Given the description of an element on the screen output the (x, y) to click on. 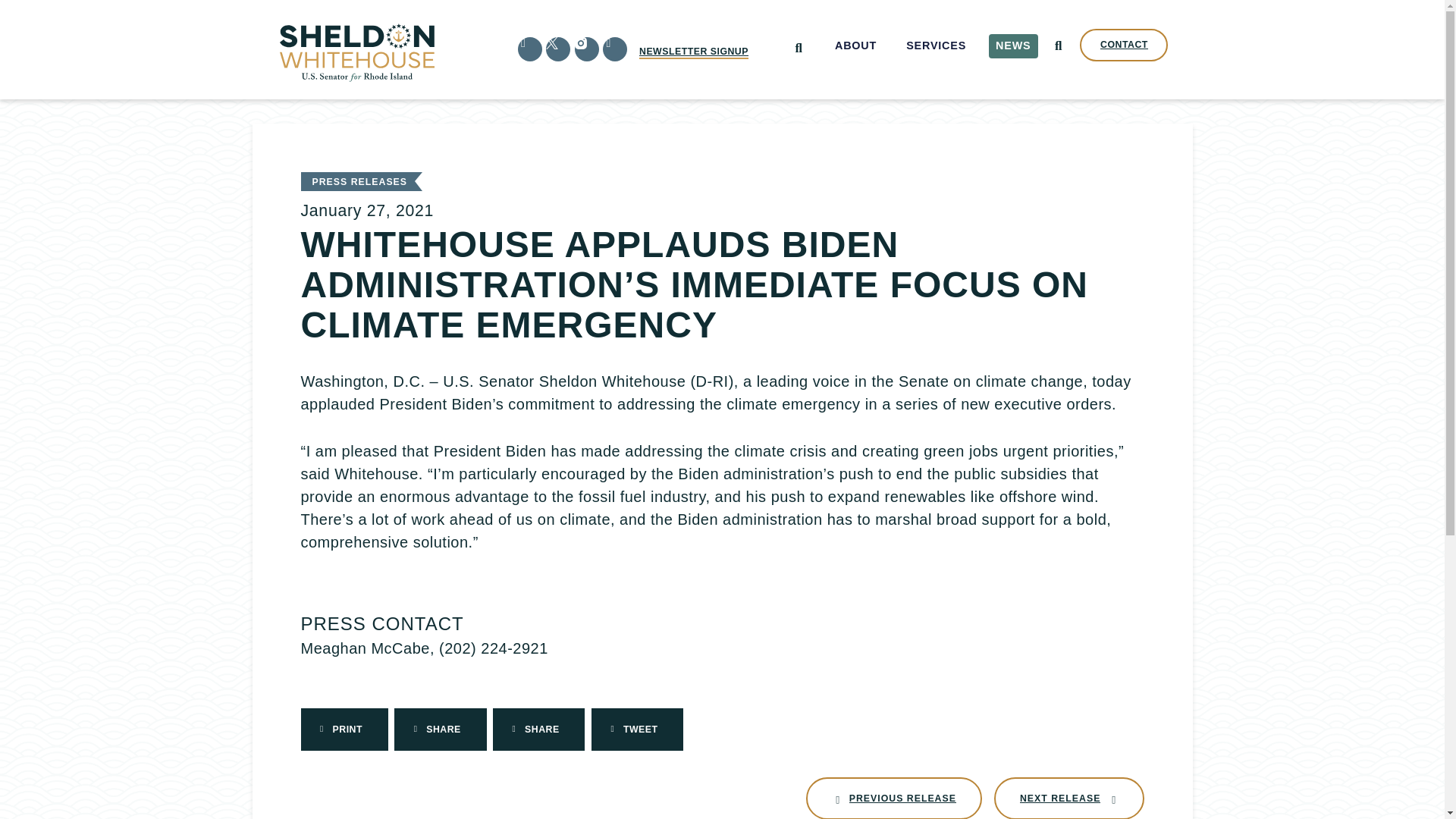
ABOUT (855, 46)
CONTACT (1123, 44)
NEWS (1013, 46)
PRESS RELEASES (360, 181)
NEWSLETTER SIGNUP (893, 798)
SERVICES (693, 51)
